Given the description of an element on the screen output the (x, y) to click on. 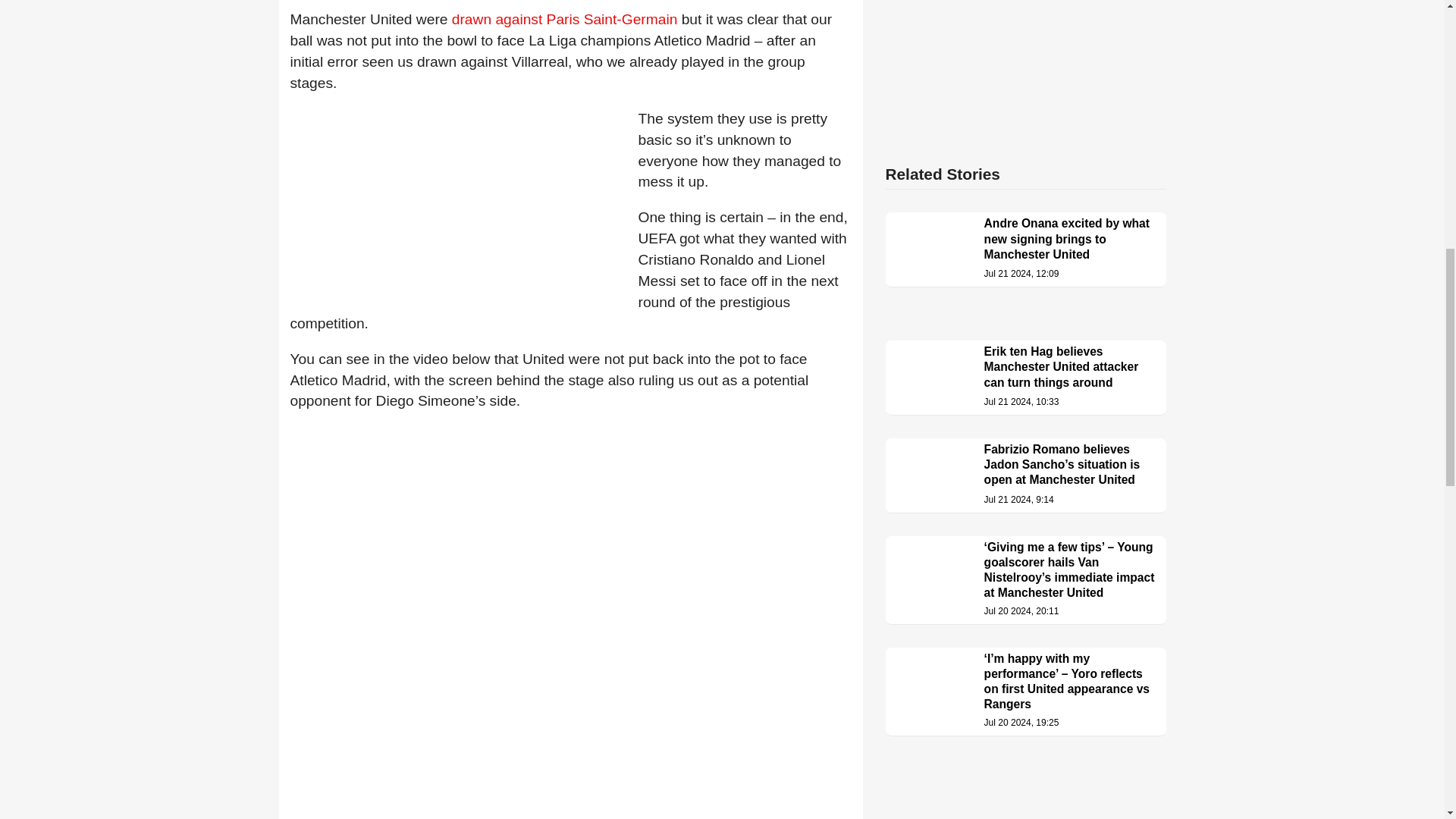
drawn against Paris Saint-Germain (564, 19)
